Given the description of an element on the screen output the (x, y) to click on. 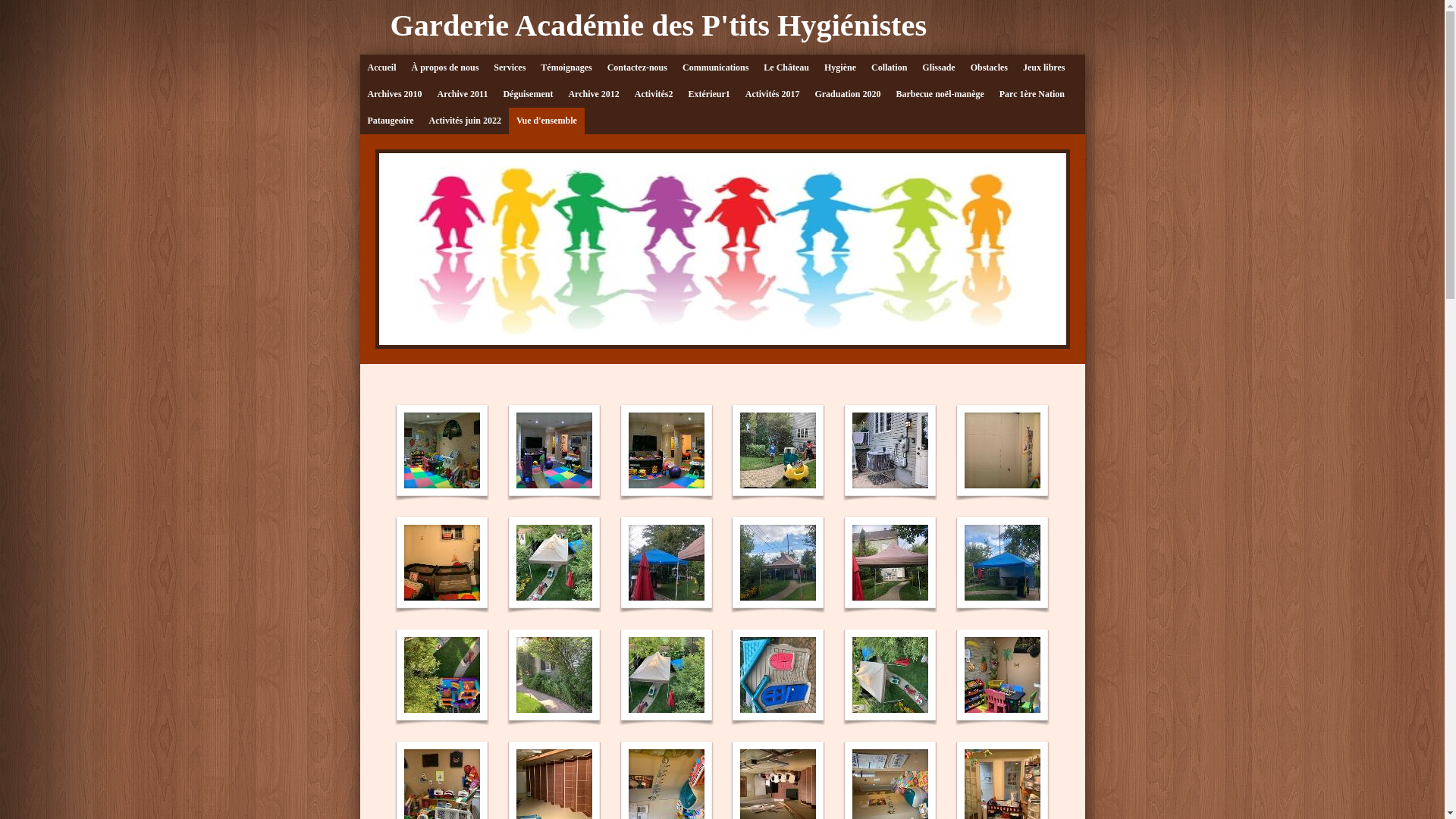
Communications Element type: text (715, 67)
Contactez-nous Element type: text (636, 67)
Jeux libres Element type: text (1043, 67)
Graduation 2020 Element type: text (847, 94)
Archive 2011 Element type: text (462, 94)
Accueil Element type: text (381, 67)
Collation Element type: text (888, 67)
Pataugeoire Element type: text (389, 120)
Archive 2012 Element type: text (593, 94)
Vue d'ensemble Element type: text (546, 120)
Obstacles Element type: text (989, 67)
Archives 2010 Element type: text (394, 94)
Services Element type: text (509, 67)
Glissade Element type: text (938, 67)
